Given the description of an element on the screen output the (x, y) to click on. 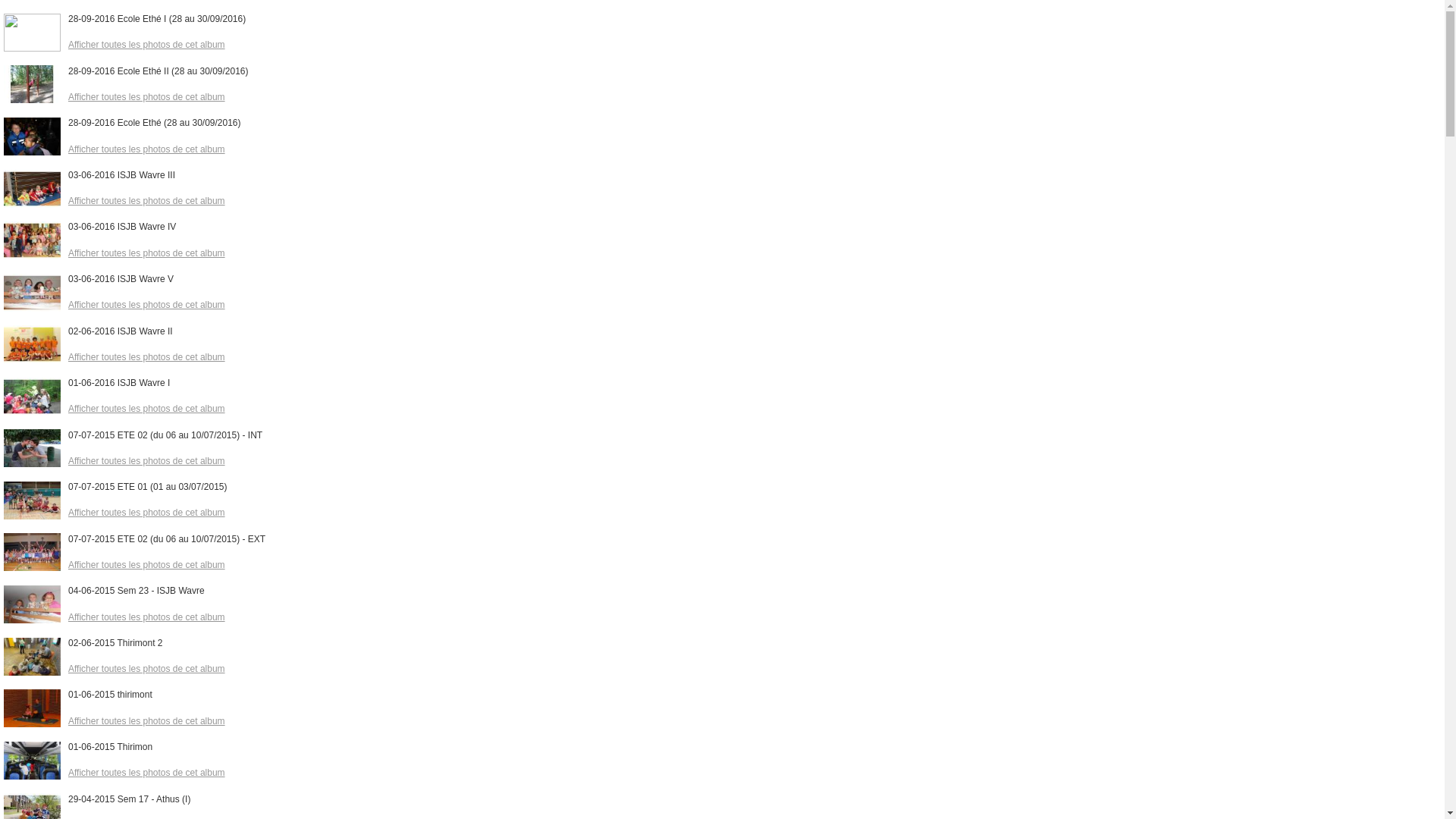
Afficher toutes les photos de cet album Element type: text (146, 44)
Afficher toutes les photos de cet album Element type: text (146, 96)
Afficher toutes les photos de cet album Element type: text (146, 512)
Afficher toutes les photos de cet album Element type: text (146, 720)
Afficher toutes les photos de cet album Element type: text (146, 772)
Afficher toutes les photos de cet album Element type: text (146, 252)
Afficher toutes les photos de cet album Element type: text (146, 149)
Afficher toutes les photos de cet album Element type: text (146, 564)
Afficher toutes les photos de cet album Element type: text (146, 616)
Afficher toutes les photos de cet album Element type: text (146, 356)
Afficher toutes les photos de cet album Element type: text (146, 200)
Afficher toutes les photos de cet album Element type: text (146, 304)
Afficher toutes les photos de cet album Element type: text (146, 408)
Afficher toutes les photos de cet album Element type: text (146, 460)
Afficher toutes les photos de cet album Element type: text (146, 668)
